Given the description of an element on the screen output the (x, y) to click on. 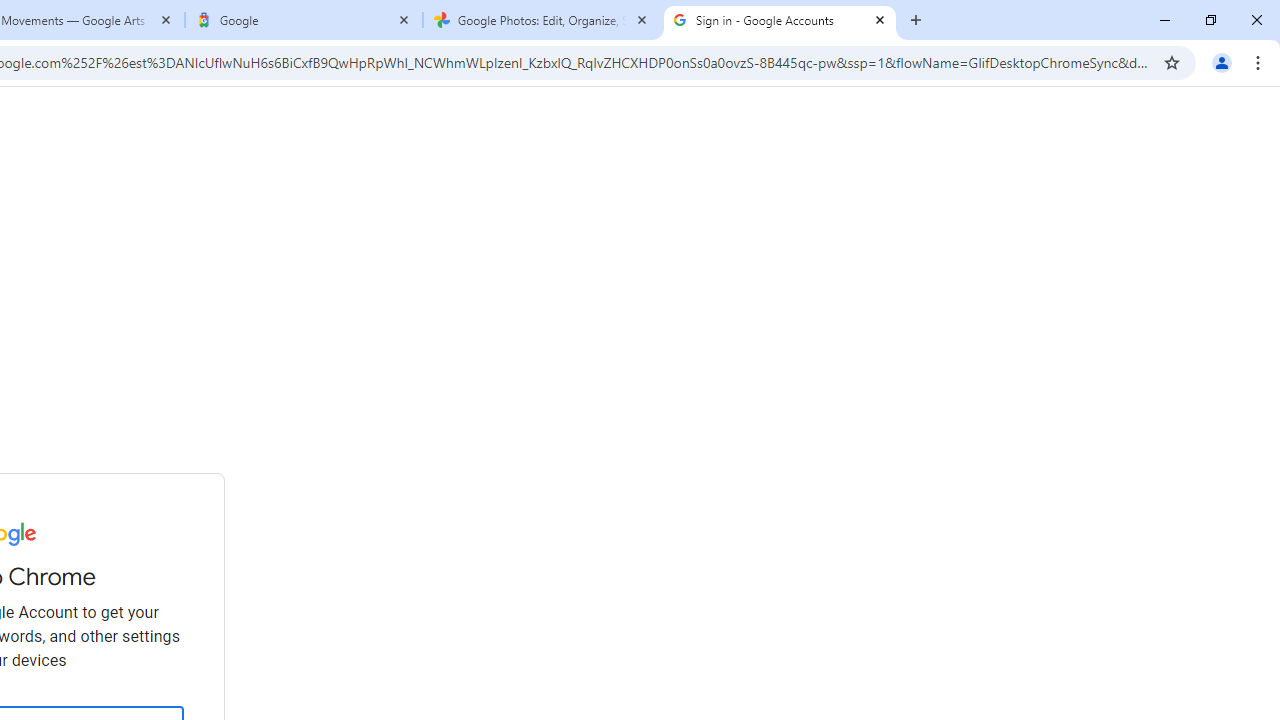
Google (304, 20)
Sign in - Google Accounts (779, 20)
